Given the description of an element on the screen output the (x, y) to click on. 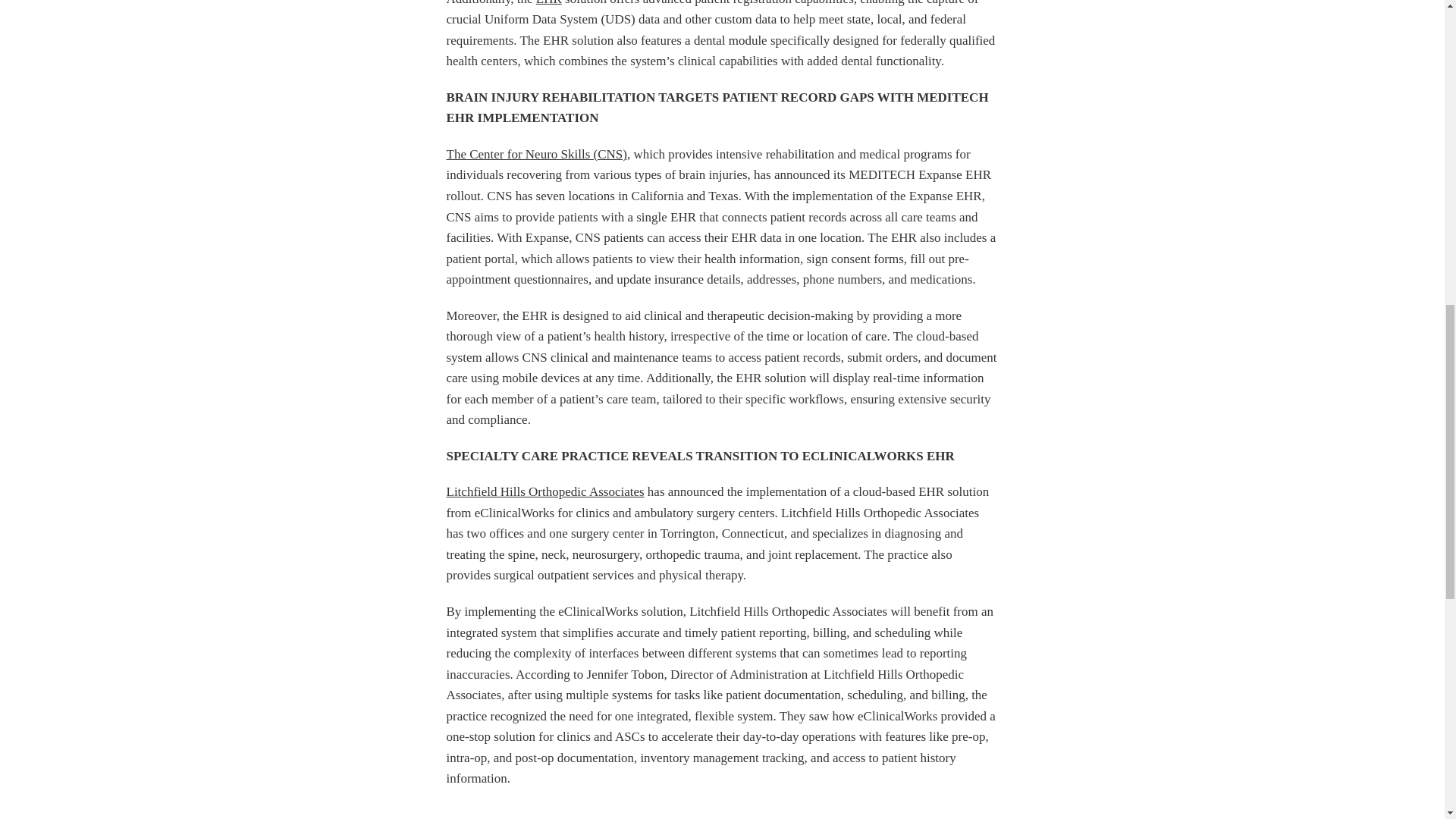
Litchfield Hills Orthopedic Associates (544, 491)
EHR (548, 2)
